Given the description of an element on the screen output the (x, y) to click on. 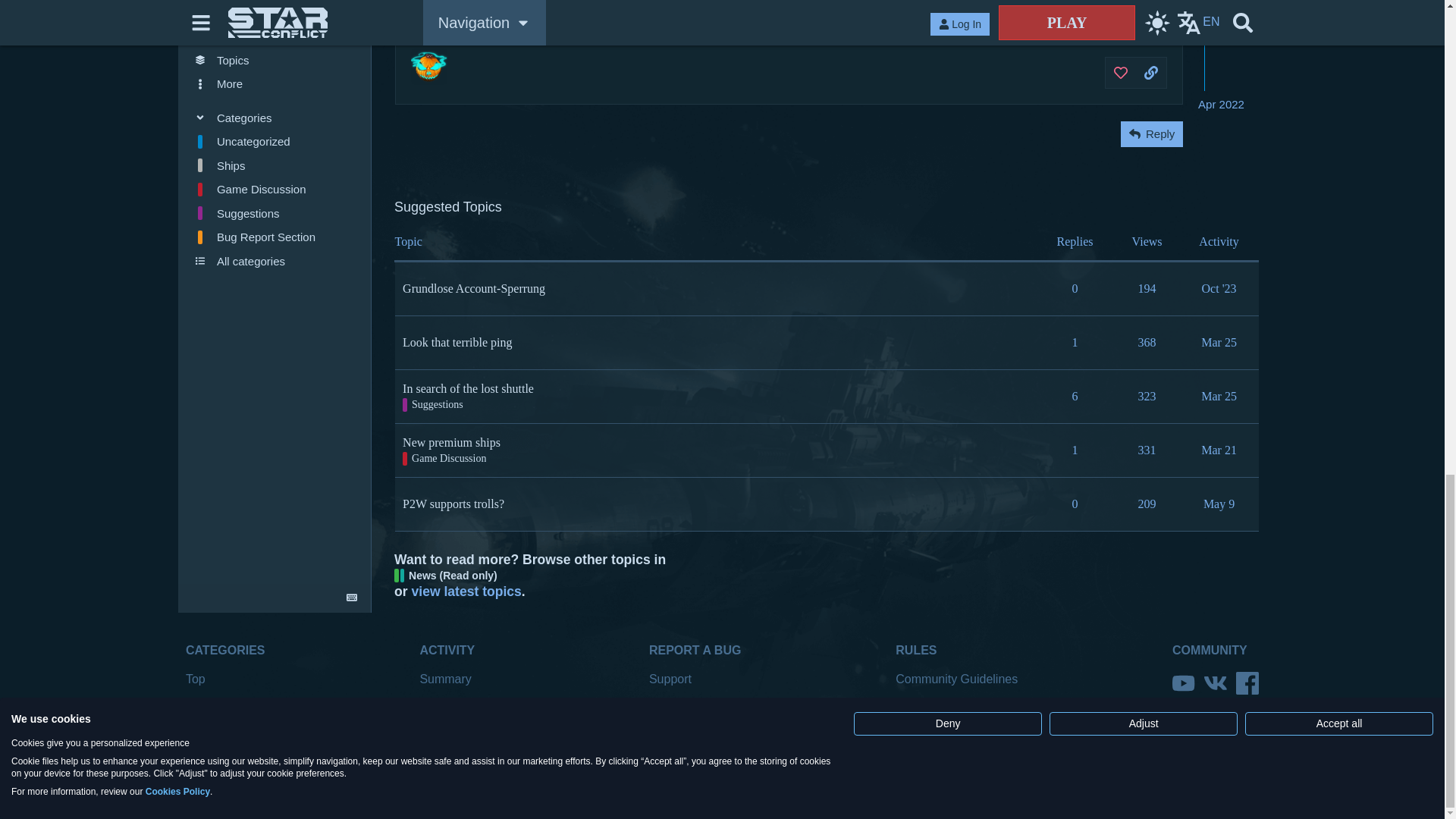
Mar 25 (1218, 342)
Grundlose Account-Sperrung (473, 288)
Reply (1151, 134)
In search of the lost shuttle (468, 388)
Oct '23 (1219, 288)
Mar 25 (1218, 396)
Look that terrible ping (457, 342)
Suggestions (433, 404)
like this post (1120, 72)
